Given the description of an element on the screen output the (x, y) to click on. 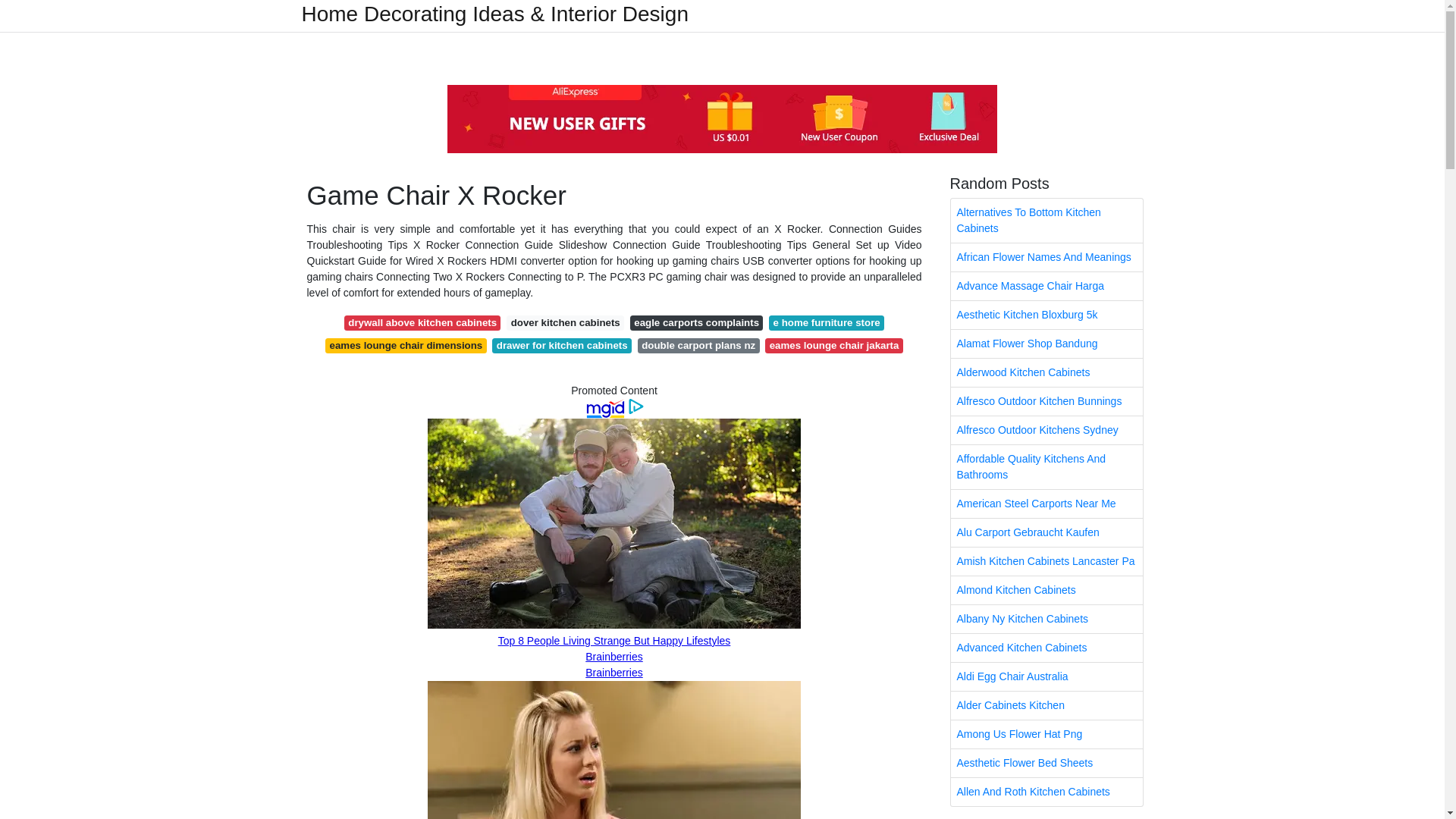
Alderwood Kitchen Cabinets (1046, 372)
e home furniture store (825, 322)
Affordable Quality Kitchens And Bathrooms (1046, 466)
Alfresco Outdoor Kitchens Sydney (1046, 430)
eagle carports complaints (696, 322)
Alamat Flower Shop Bandung (1046, 343)
Alternatives To Bottom Kitchen Cabinets (1046, 220)
eames lounge chair jakarta (833, 345)
Advance Massage Chair Harga (1046, 285)
dover kitchen cabinets (565, 322)
drywall above kitchen cabinets (421, 322)
double carport plans nz (698, 345)
eames lounge chair dimensions (405, 345)
Alfresco Outdoor Kitchen Bunnings (1046, 401)
African Flower Names And Meanings (1046, 257)
